Given the description of an element on the screen output the (x, y) to click on. 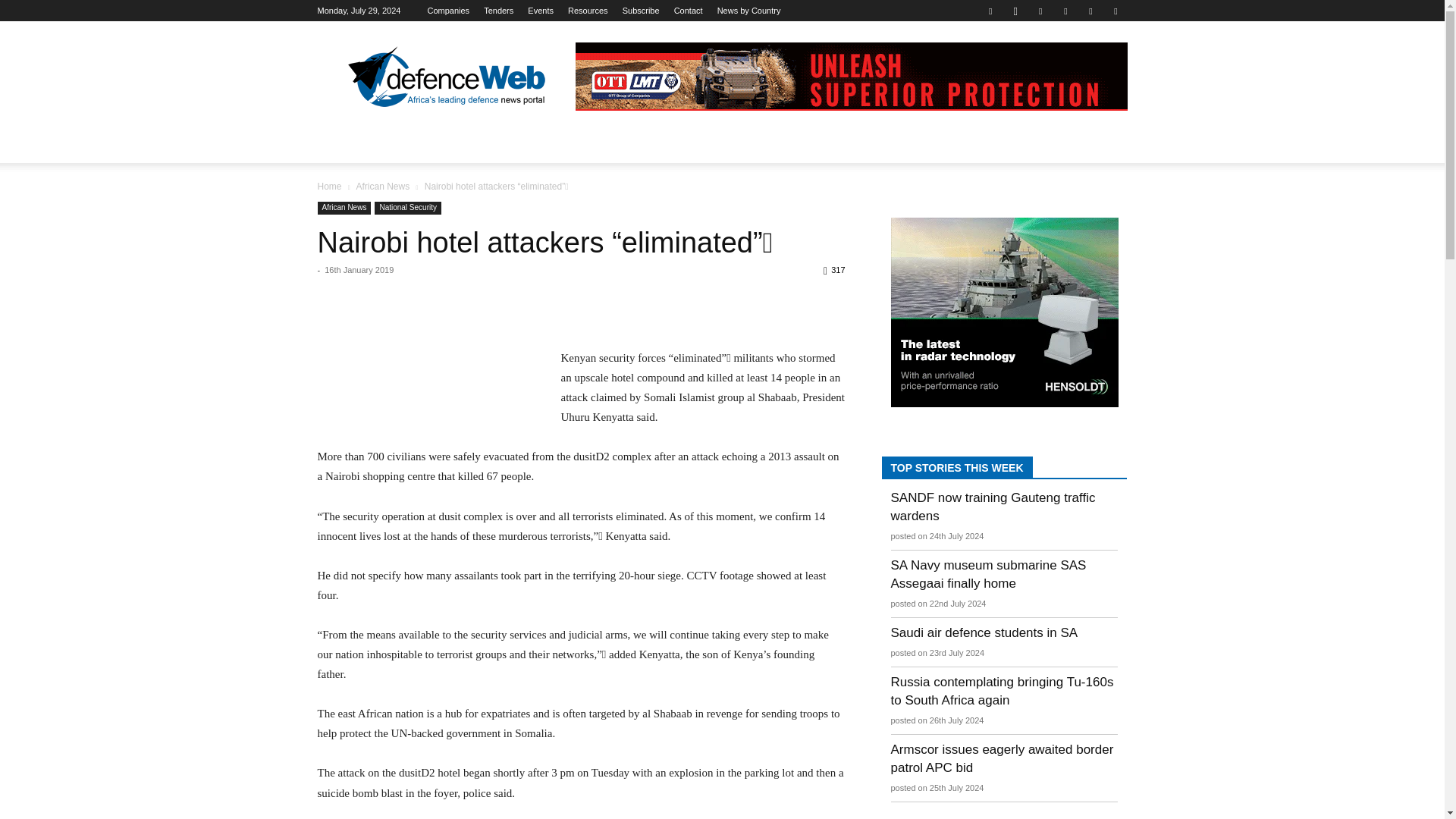
Linkedin (1040, 10)
Instagram (1015, 10)
Twitter (1090, 10)
Youtube (1114, 10)
Facebook (989, 10)
Mail (1065, 10)
